Given the description of an element on the screen output the (x, y) to click on. 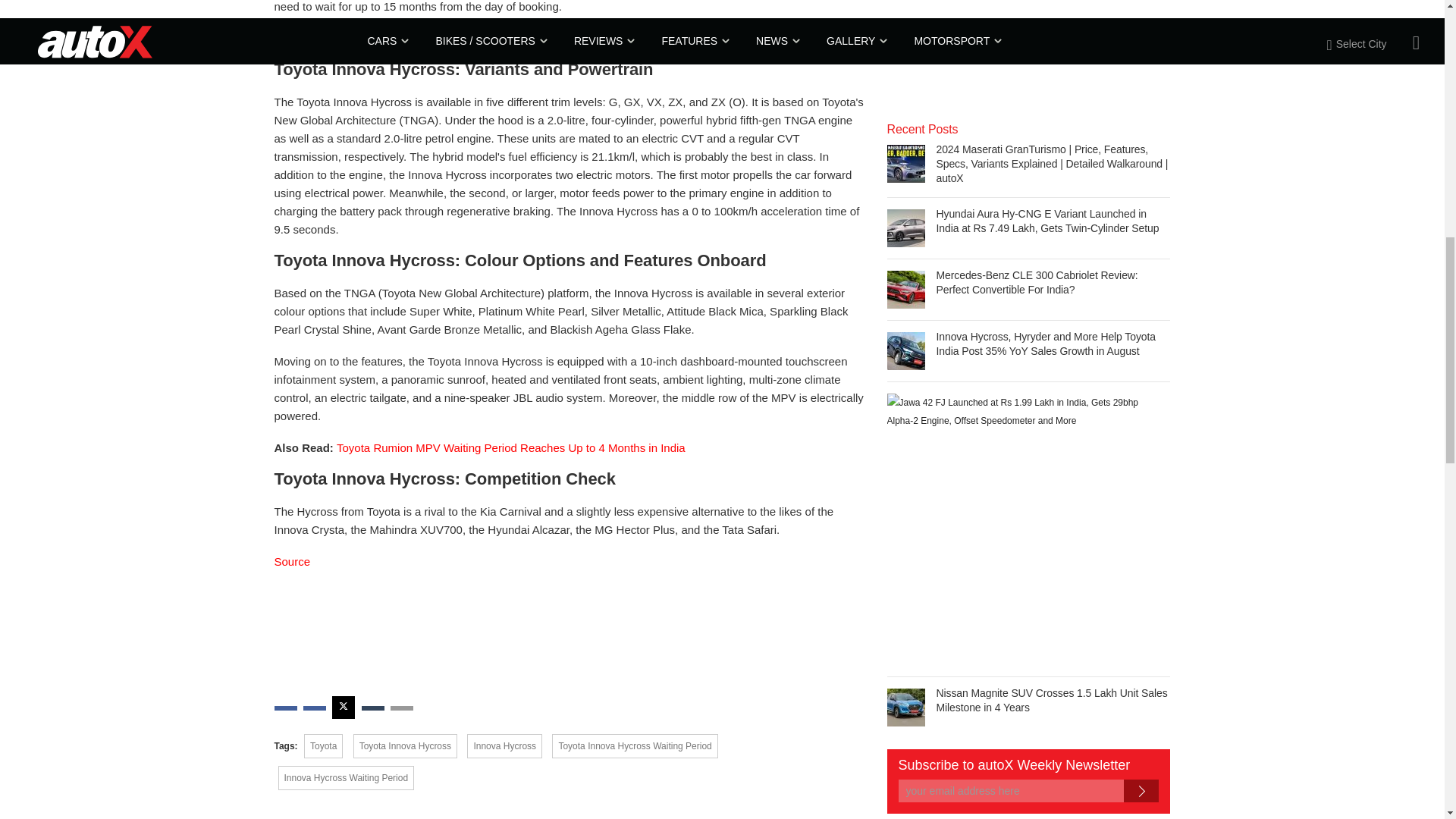
share with twitter (343, 707)
share with tumblr (372, 707)
